Given the description of an element on the screen output the (x, y) to click on. 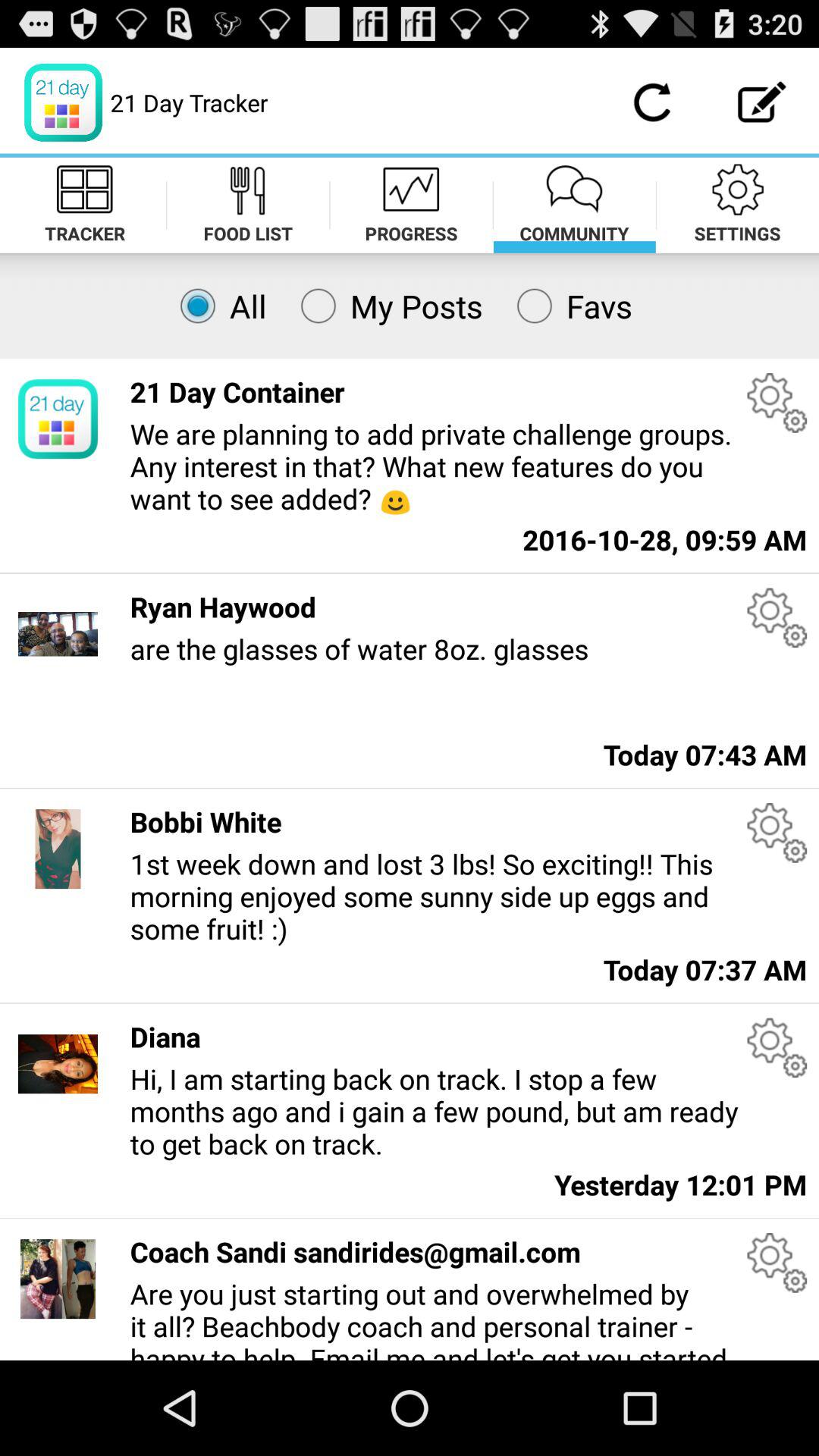
settings (777, 617)
